Given the description of an element on the screen output the (x, y) to click on. 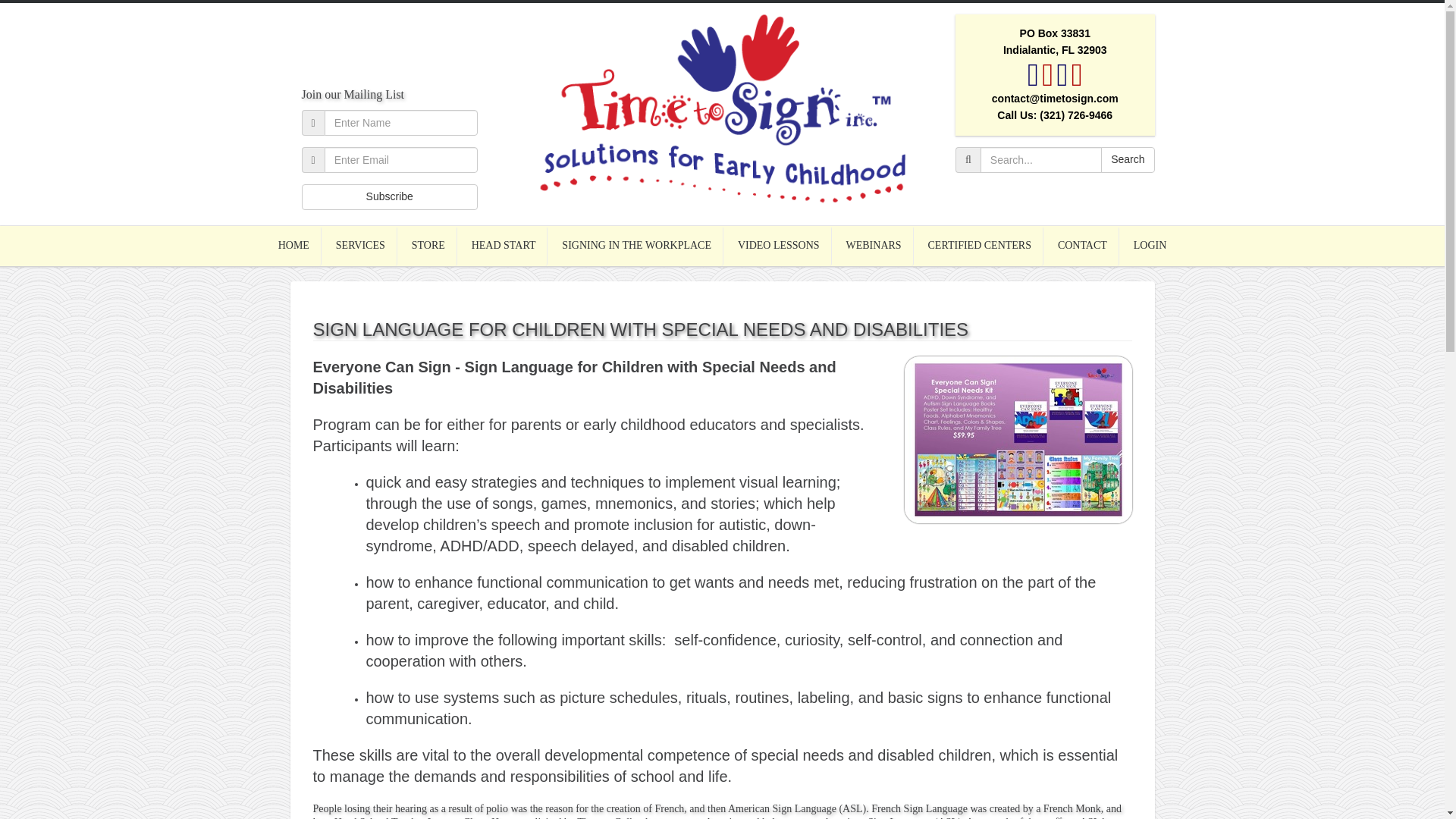
SERVICES (360, 246)
HEAD START (504, 246)
STORE (428, 246)
Subscribe (390, 196)
Search (1127, 159)
The Sign Language Education Experts - Time to Sign (722, 108)
SIGNING IN THE WORKPLACE (636, 246)
HOME (293, 246)
